Given the description of an element on the screen output the (x, y) to click on. 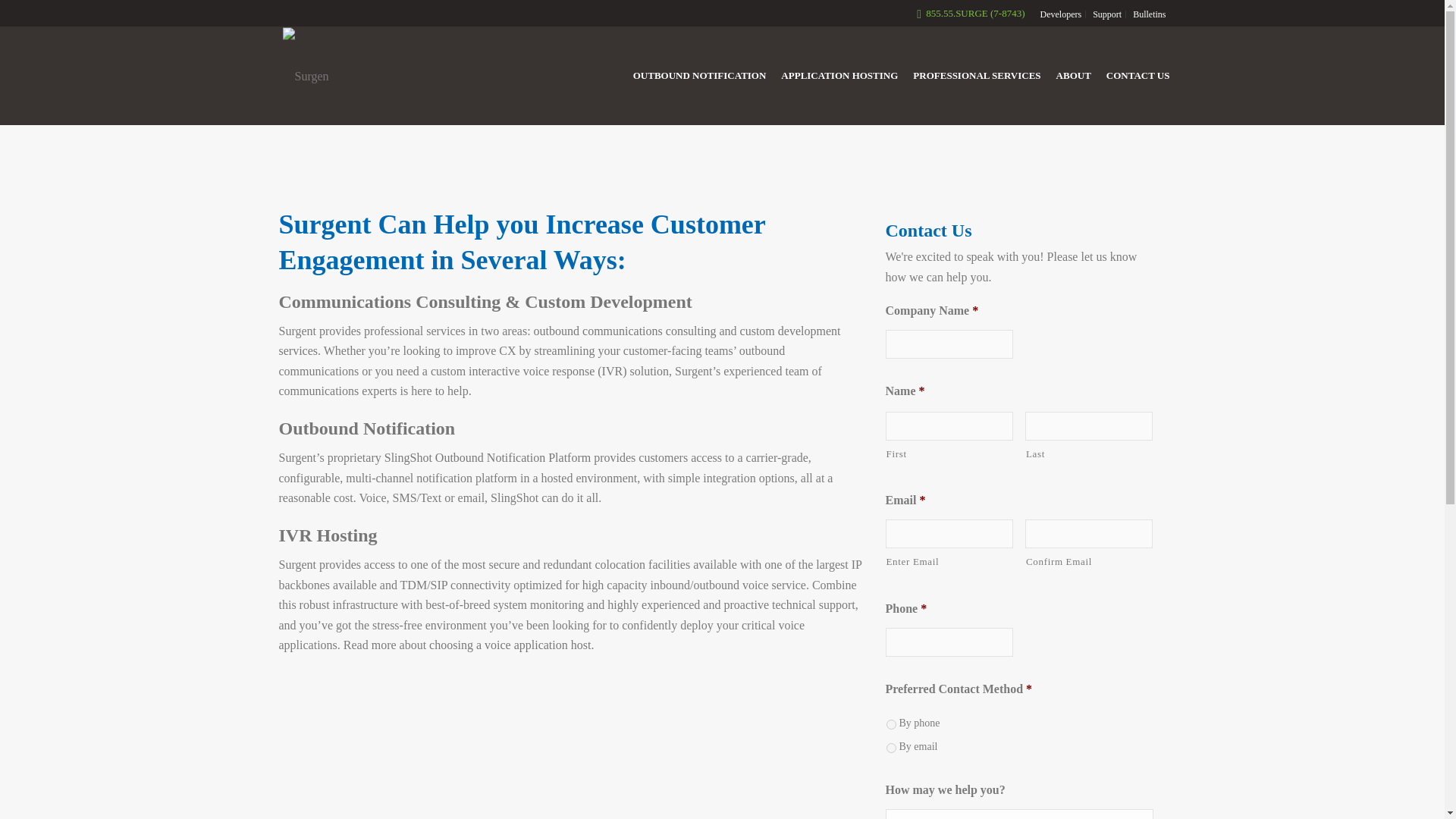
Outbound Notification (367, 428)
SlingShot Outbound Notification Platform (487, 457)
By phone (890, 724)
OUTBOUND NOTIFICATION (700, 76)
APPLICATION HOSTING (839, 76)
By email (890, 747)
custom development services (560, 340)
Support (1107, 14)
Bulletins (1149, 14)
PROFESSIONAL SERVICES (976, 76)
